Given the description of an element on the screen output the (x, y) to click on. 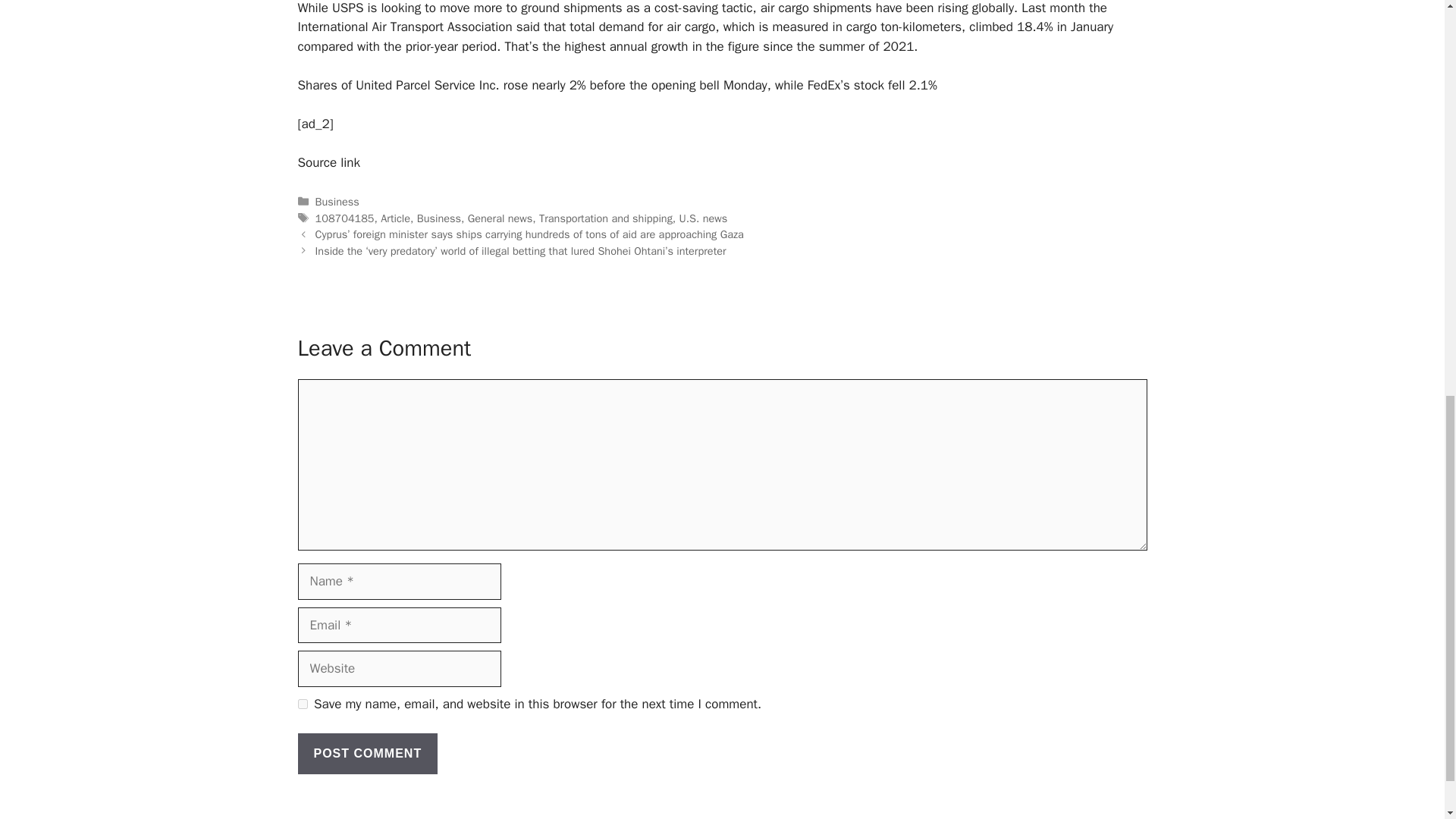
Post Comment (367, 753)
Business (438, 218)
Post Comment (367, 753)
U.S. news (703, 218)
Article (395, 218)
General news (499, 218)
Scroll back to top (1406, 720)
Business (337, 201)
Source link (328, 162)
108704185 (344, 218)
yes (302, 704)
Transportation and shipping (605, 218)
